Given the description of an element on the screen output the (x, y) to click on. 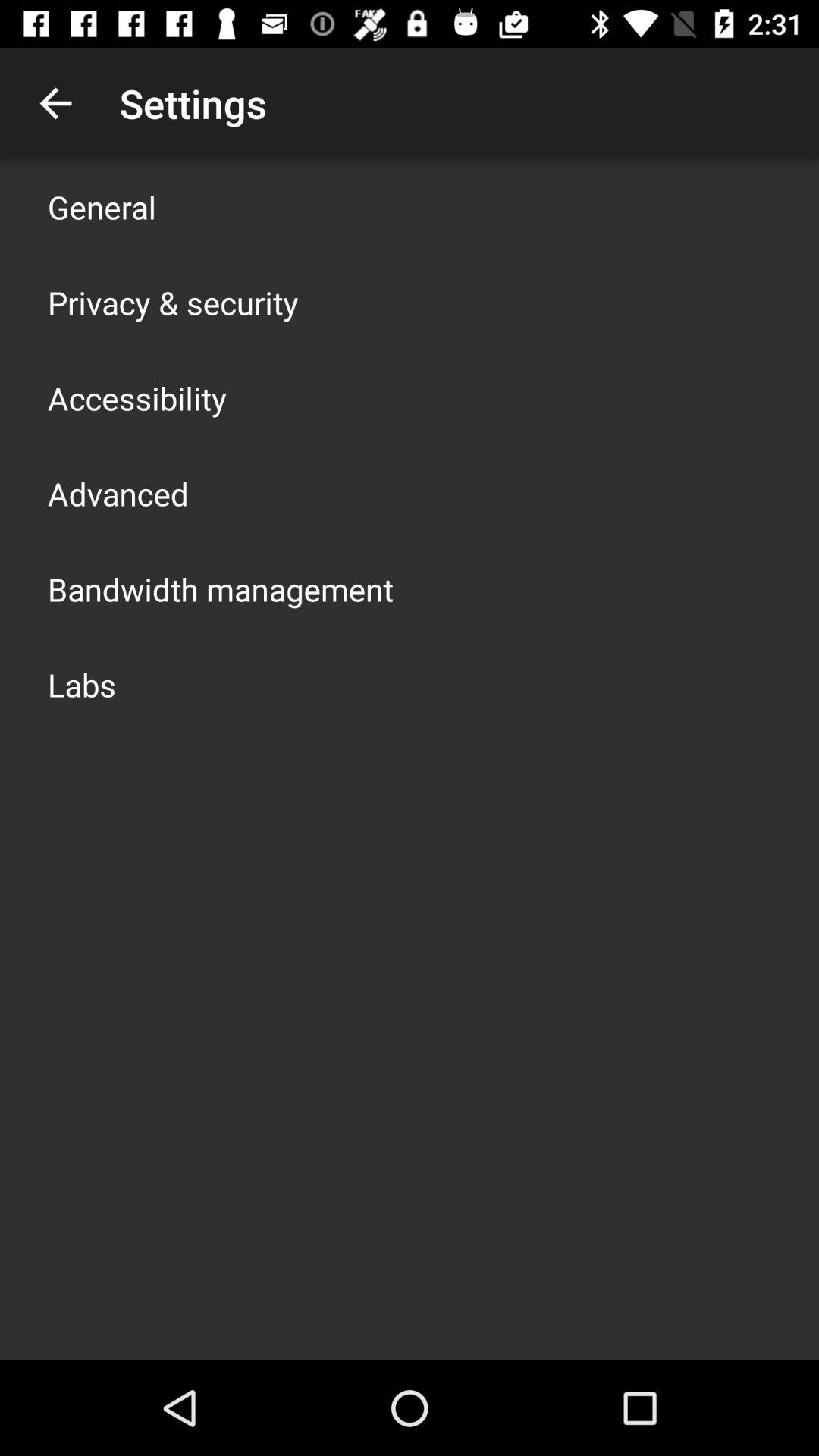
flip until general icon (101, 206)
